Given the description of an element on the screen output the (x, y) to click on. 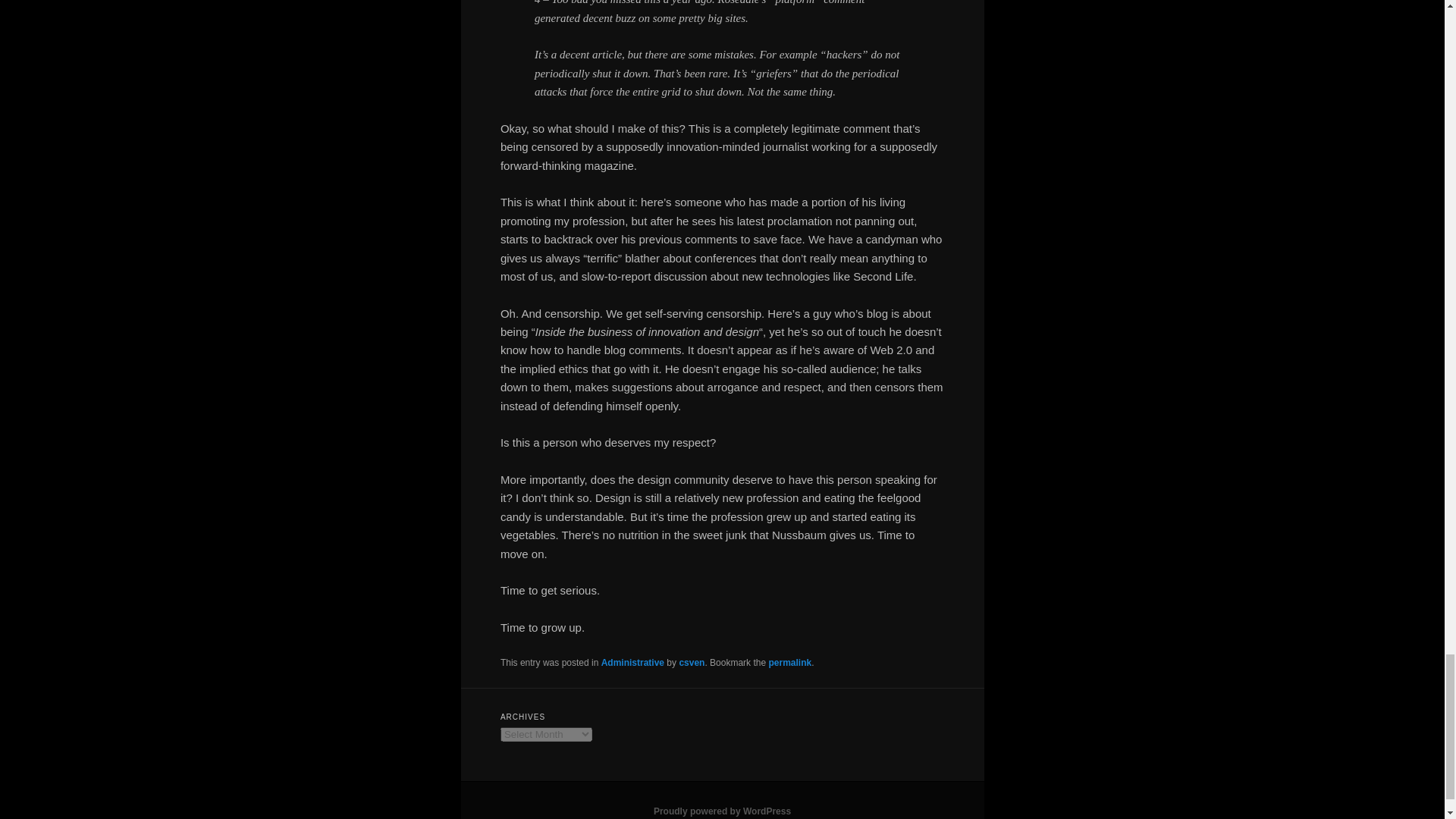
csven (691, 662)
Permalink to Design Candy and Rotten Teeth (789, 662)
permalink (789, 662)
Proudly powered by WordPress (721, 810)
Administrative (632, 662)
Semantic Personal Publishing Platform (721, 810)
